Given the description of an element on the screen output the (x, y) to click on. 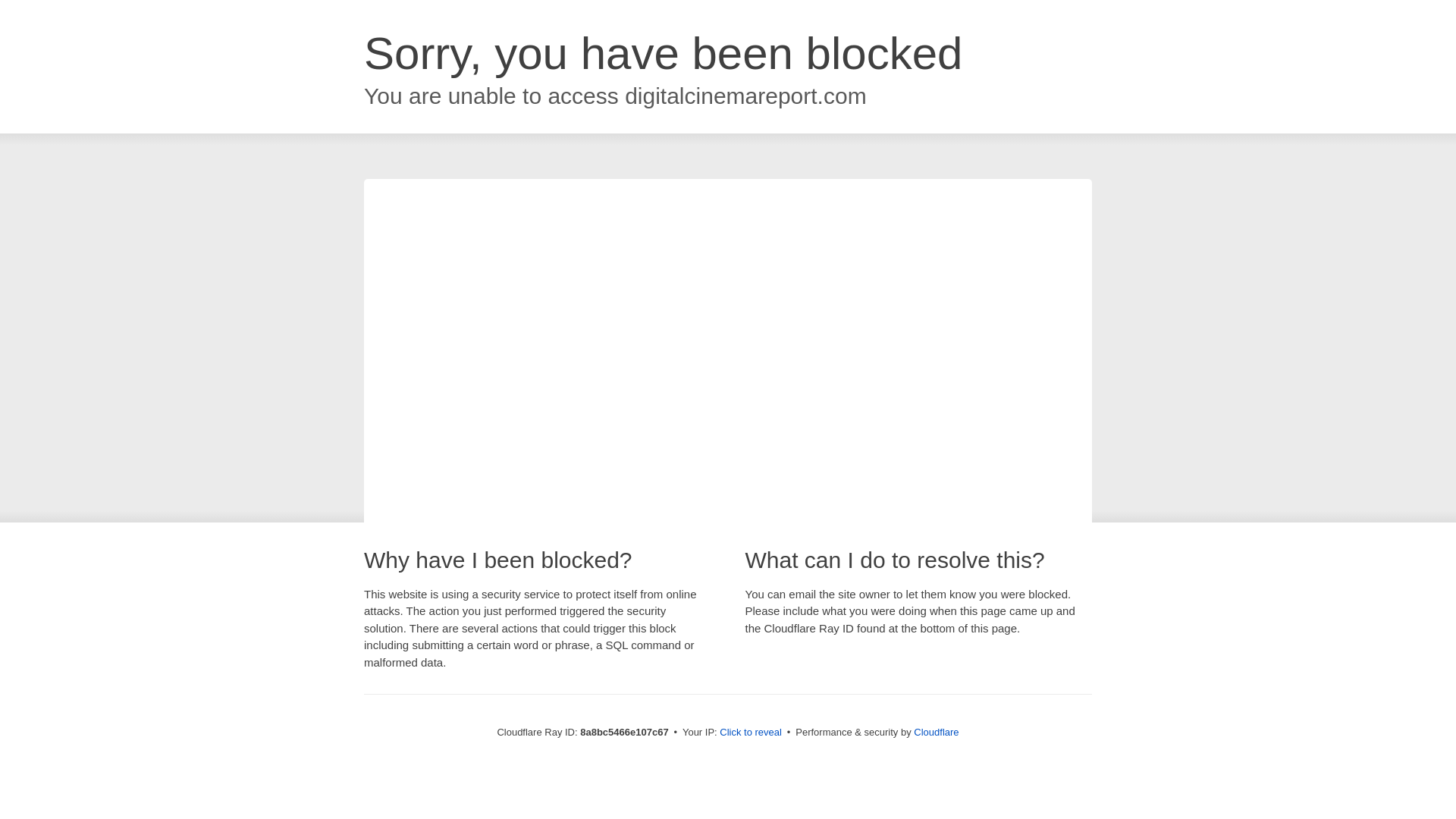
Cloudflare (936, 731)
Click to reveal (750, 732)
